Given the description of an element on the screen output the (x, y) to click on. 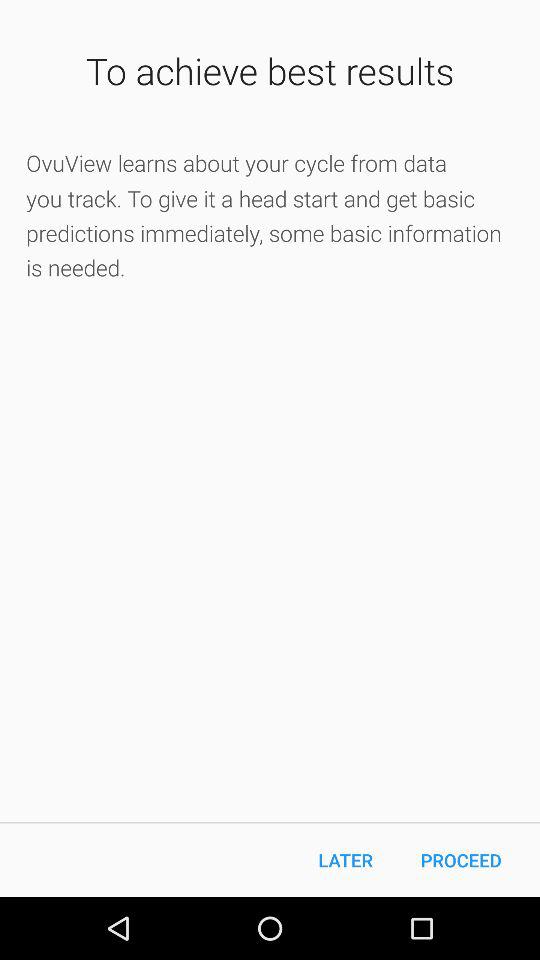
jump to the proceed (461, 859)
